Given the description of an element on the screen output the (x, y) to click on. 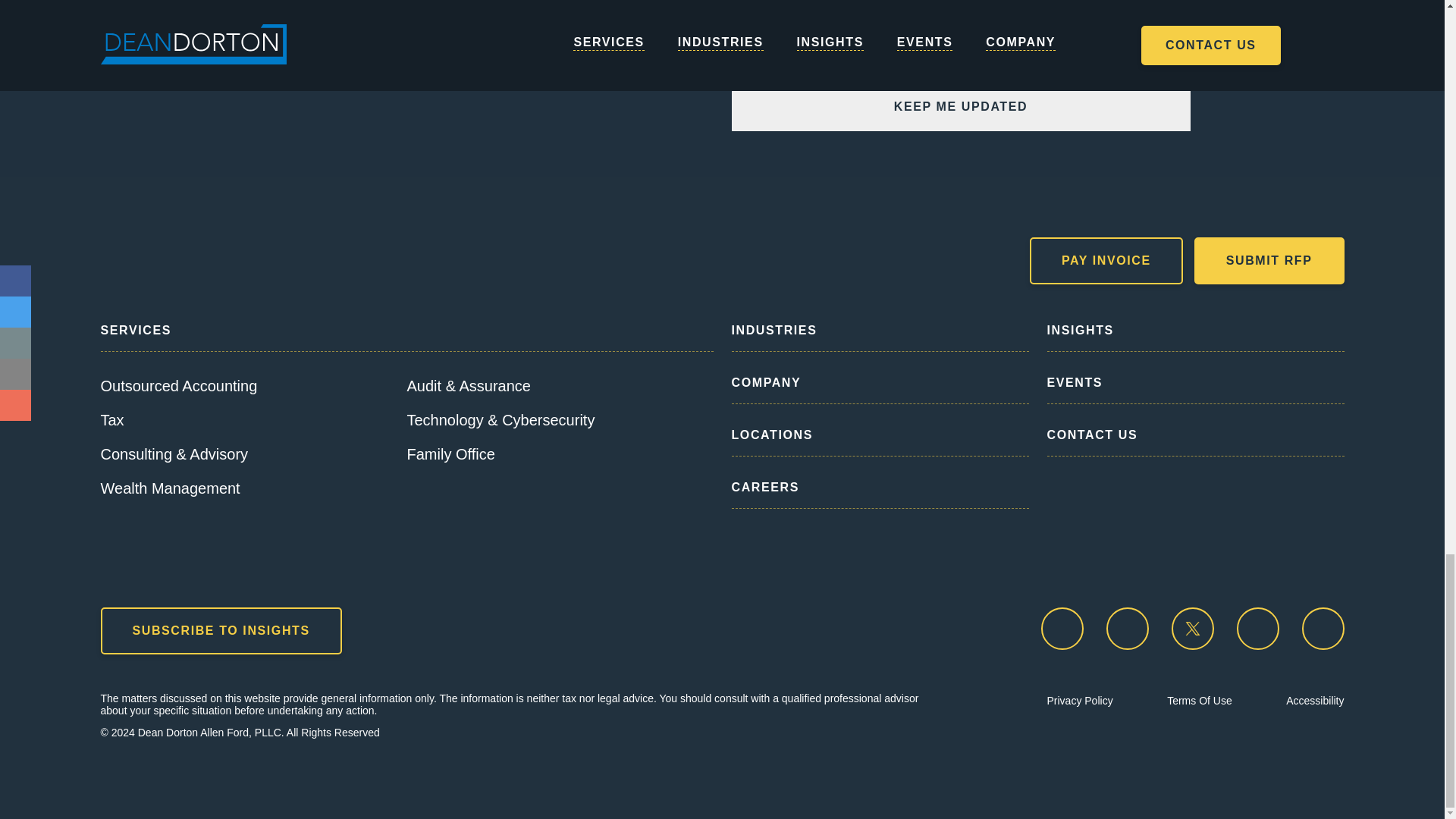
Dean Dorton - CPAs and Advisors on twitter (1191, 628)
Dean Dorton - CPAs and Advisors on YouTube (1322, 628)
Dean Dorton - CPAs and Advisors on LinkedIn (1257, 628)
Dean Dorton - CPAs and Advisors on email (1062, 628)
Dean Dorton - CPAs and Advisors on Facebook (1126, 628)
